Given the description of an element on the screen output the (x, y) to click on. 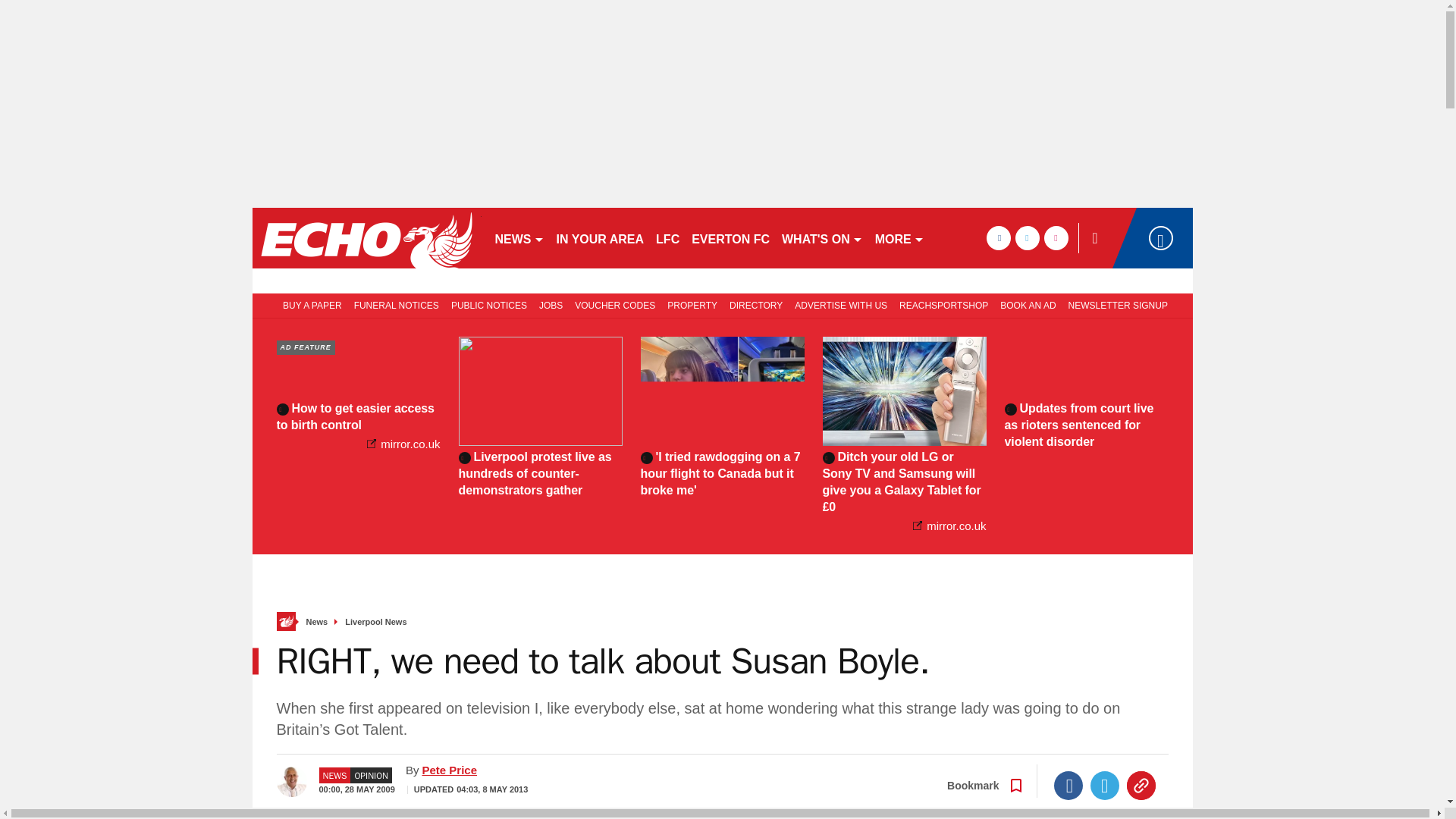
WHAT'S ON (822, 238)
twitter (1026, 238)
Twitter (1104, 785)
IN YOUR AREA (600, 238)
Facebook (1068, 785)
instagram (1055, 238)
liverpoolecho (365, 238)
NEWS (518, 238)
facebook (997, 238)
MORE (899, 238)
EVERTON FC (730, 238)
